Given the description of an element on the screen output the (x, y) to click on. 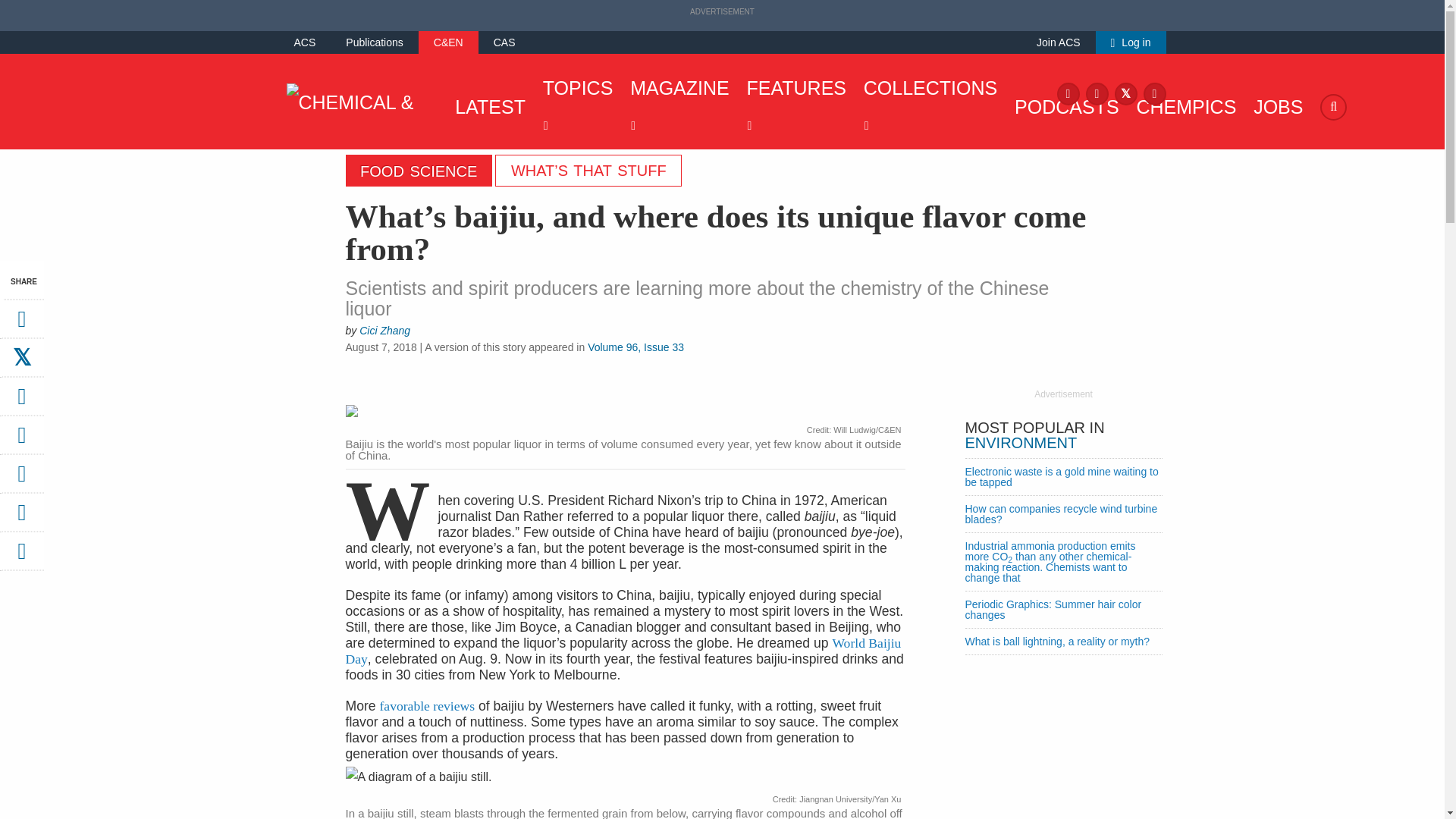
Log in (1130, 42)
ACS (304, 42)
Publications (374, 42)
TOPICS (573, 106)
X (1126, 92)
Join ACS (1058, 42)
LATEST (485, 106)
CAS (504, 42)
LinkedIn (1154, 92)
Facebook (1068, 92)
